Given the description of an element on the screen output the (x, y) to click on. 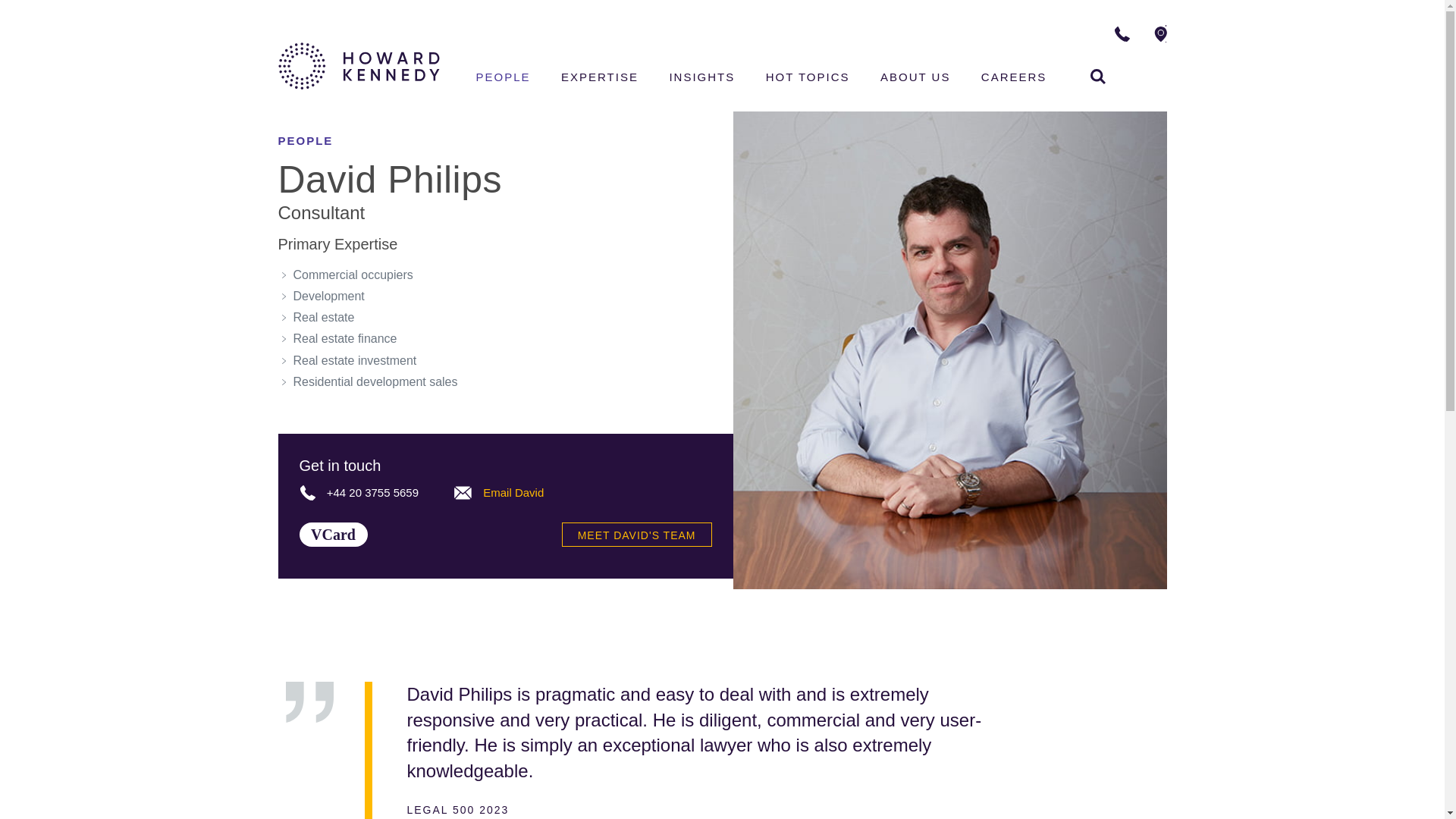
PEOPLE (332, 534)
Search icon (503, 79)
EXPERTISE (1097, 76)
CONTACT US (599, 79)
Email icon (1215, 33)
